Given the description of an element on the screen output the (x, y) to click on. 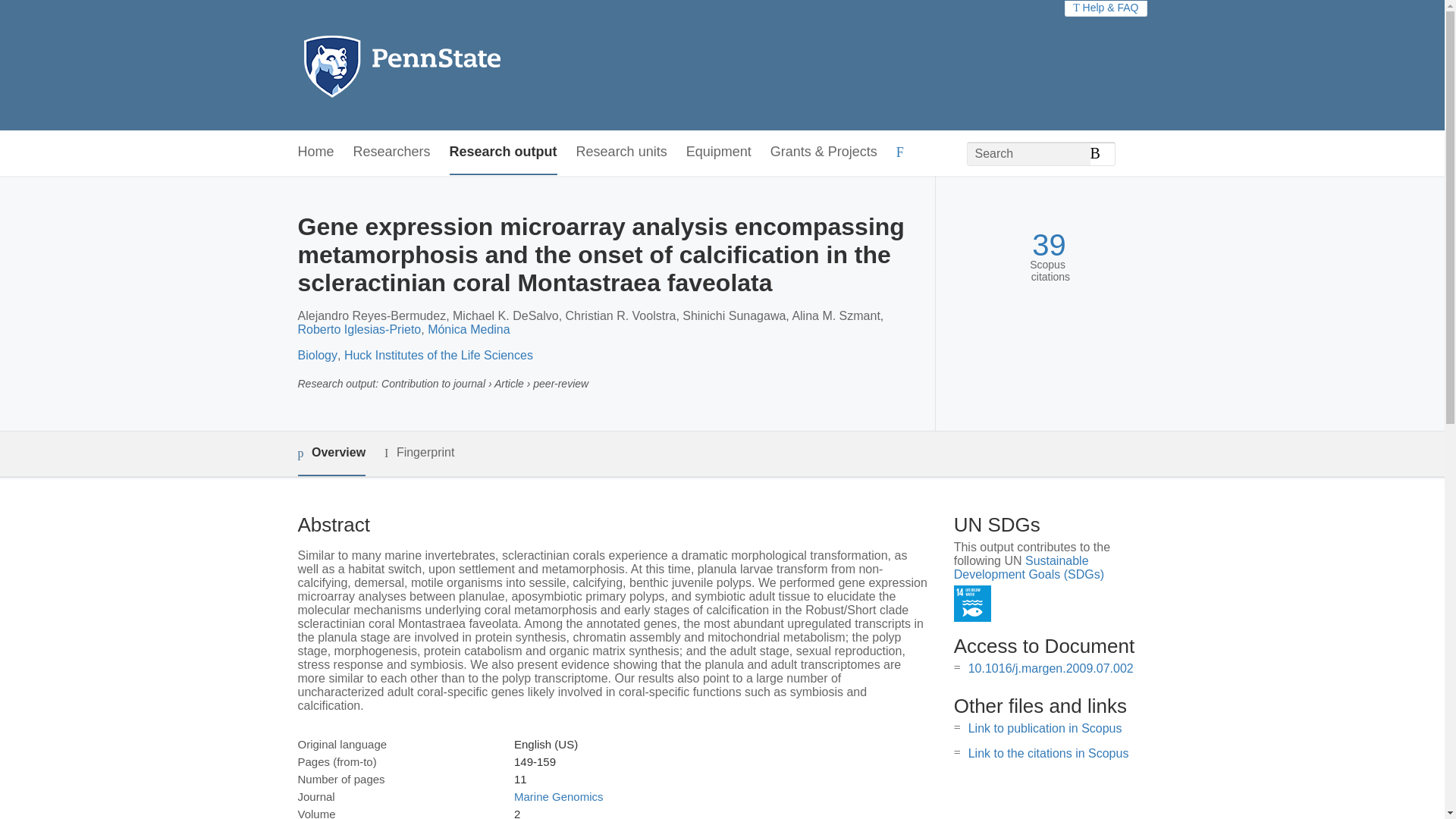
SDG 14 - Life Below Water (972, 603)
Fingerprint (419, 453)
Researchers (391, 152)
39 (1048, 244)
Penn State Home (467, 65)
Link to the citations in Scopus (1048, 753)
Overview (331, 453)
Huck Institutes of the Life Sciences (437, 354)
Research output (503, 152)
Link to publication in Scopus (1045, 727)
